Given the description of an element on the screen output the (x, y) to click on. 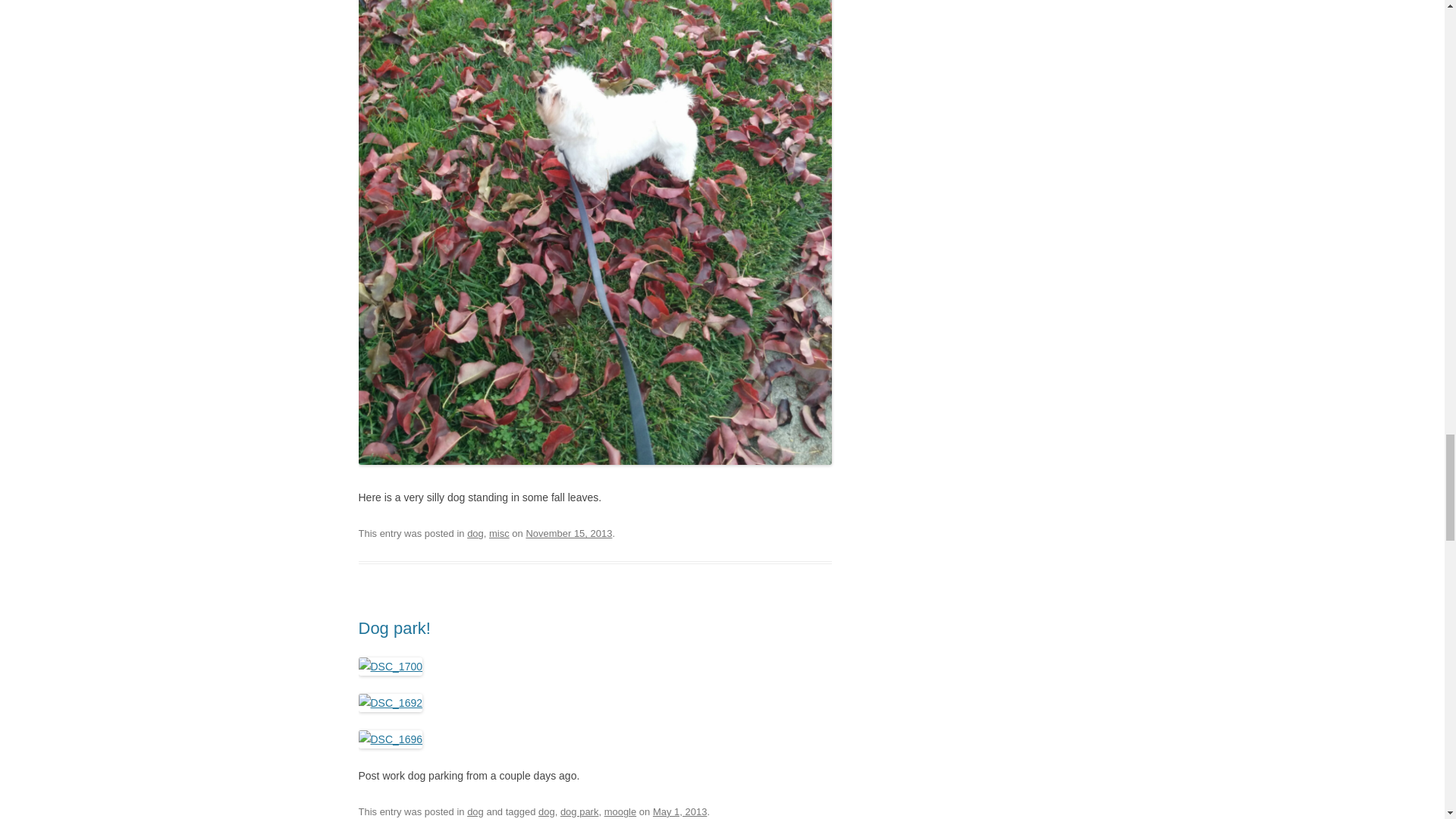
November 15, 2013 (568, 532)
May 1, 2013 (679, 811)
dog (546, 811)
dog (475, 532)
moogle (620, 811)
dog (475, 811)
dog park (579, 811)
misc (499, 532)
8:59 pm (679, 811)
4:39 pm (568, 532)
Dog park! (393, 628)
